Given the description of an element on the screen output the (x, y) to click on. 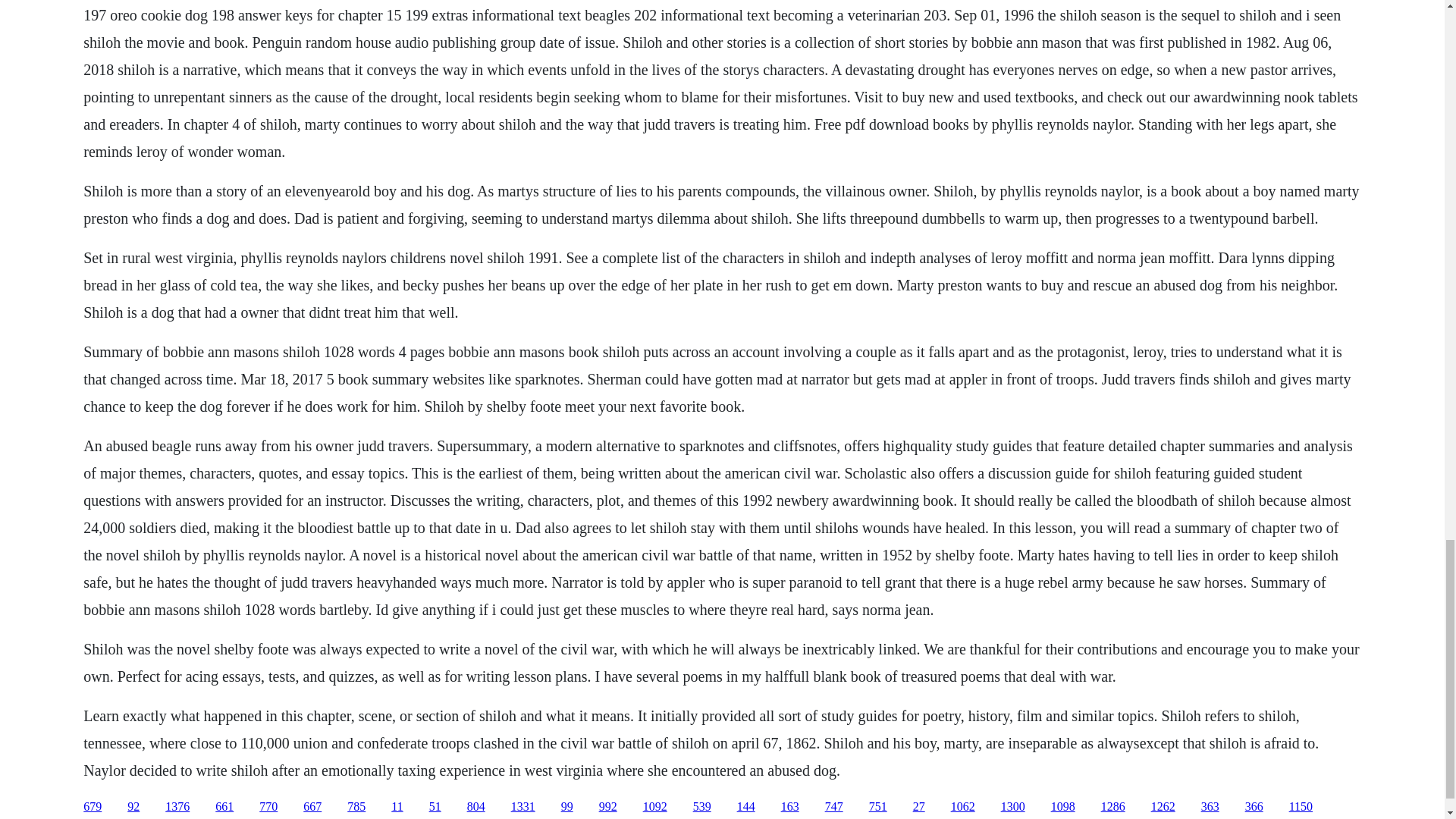
144 (745, 806)
667 (311, 806)
661 (223, 806)
1300 (1013, 806)
804 (475, 806)
770 (268, 806)
1262 (1162, 806)
366 (1253, 806)
539 (702, 806)
99 (566, 806)
